Given the description of an element on the screen output the (x, y) to click on. 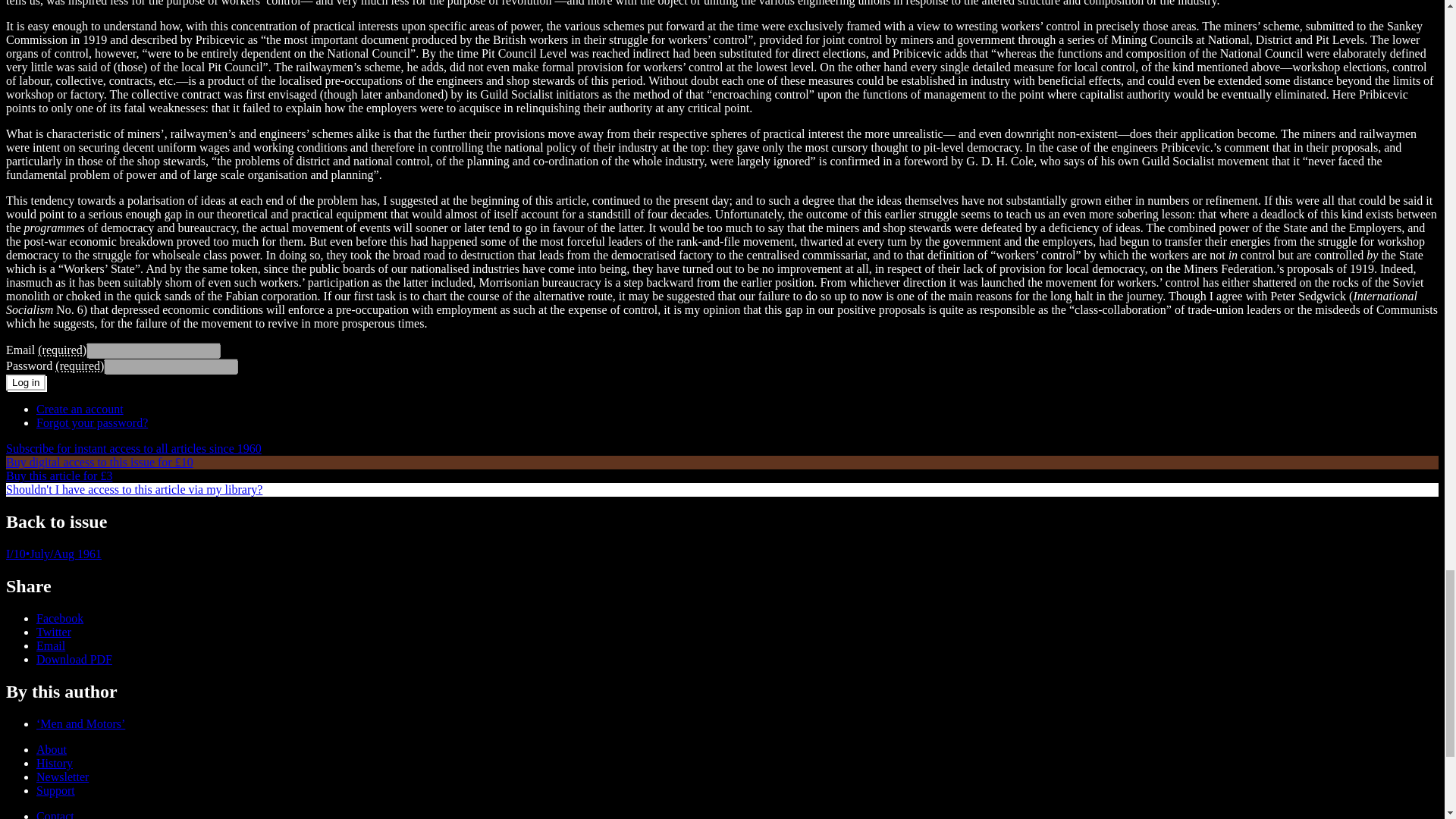
Twitter (53, 631)
you must complete this field (79, 365)
Contact (55, 814)
you must complete this field (61, 349)
Log in (25, 382)
About (51, 748)
Subscribe for instant access to all articles since 1960 (133, 448)
Email (50, 645)
Facebook (59, 617)
Newsletter (62, 776)
